Given the description of an element on the screen output the (x, y) to click on. 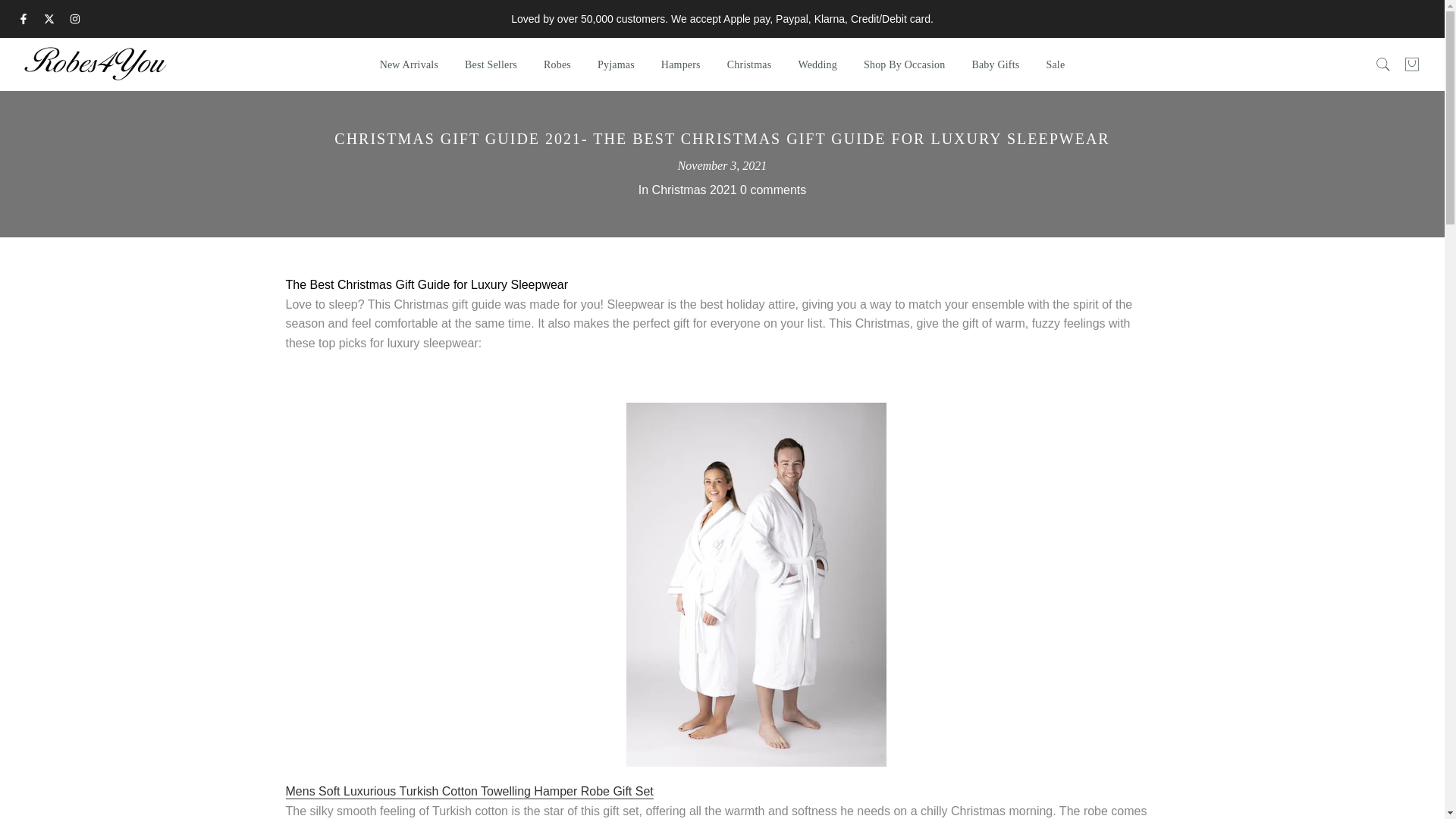
Hampers (680, 65)
Pyjamas (615, 65)
Sale (1055, 65)
0 comments (772, 189)
Baby Gifts (995, 65)
Shop By Occasion (904, 65)
New Arrivals (408, 65)
Robes (556, 65)
Best Sellers (491, 65)
